Given the description of an element on the screen output the (x, y) to click on. 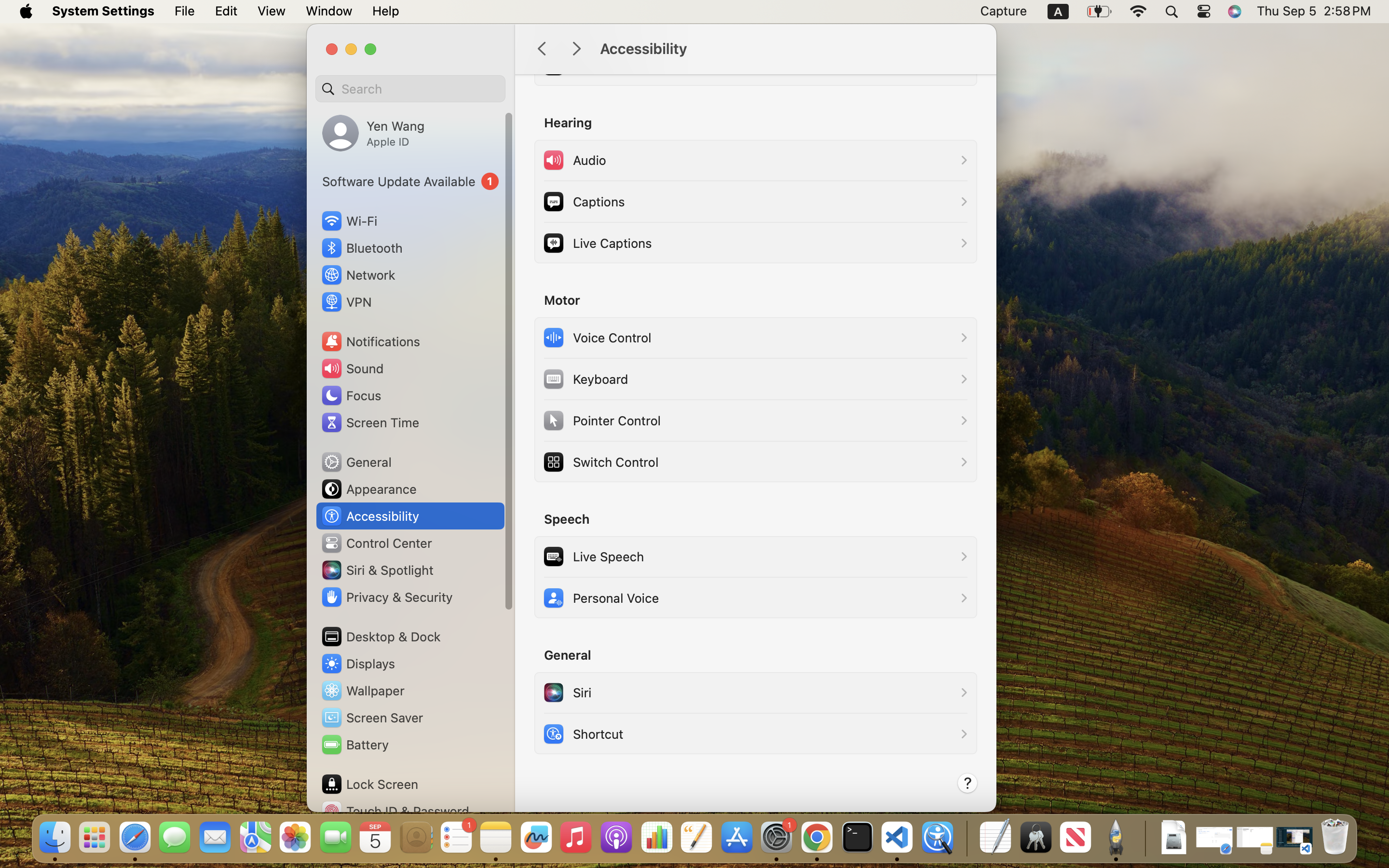
VPN Element type: AXStaticText (345, 301)
Bluetooth Element type: AXStaticText (361, 247)
Sound Element type: AXStaticText (351, 367)
Siri & Spotlight Element type: AXStaticText (376, 569)
